Given the description of an element on the screen output the (x, y) to click on. 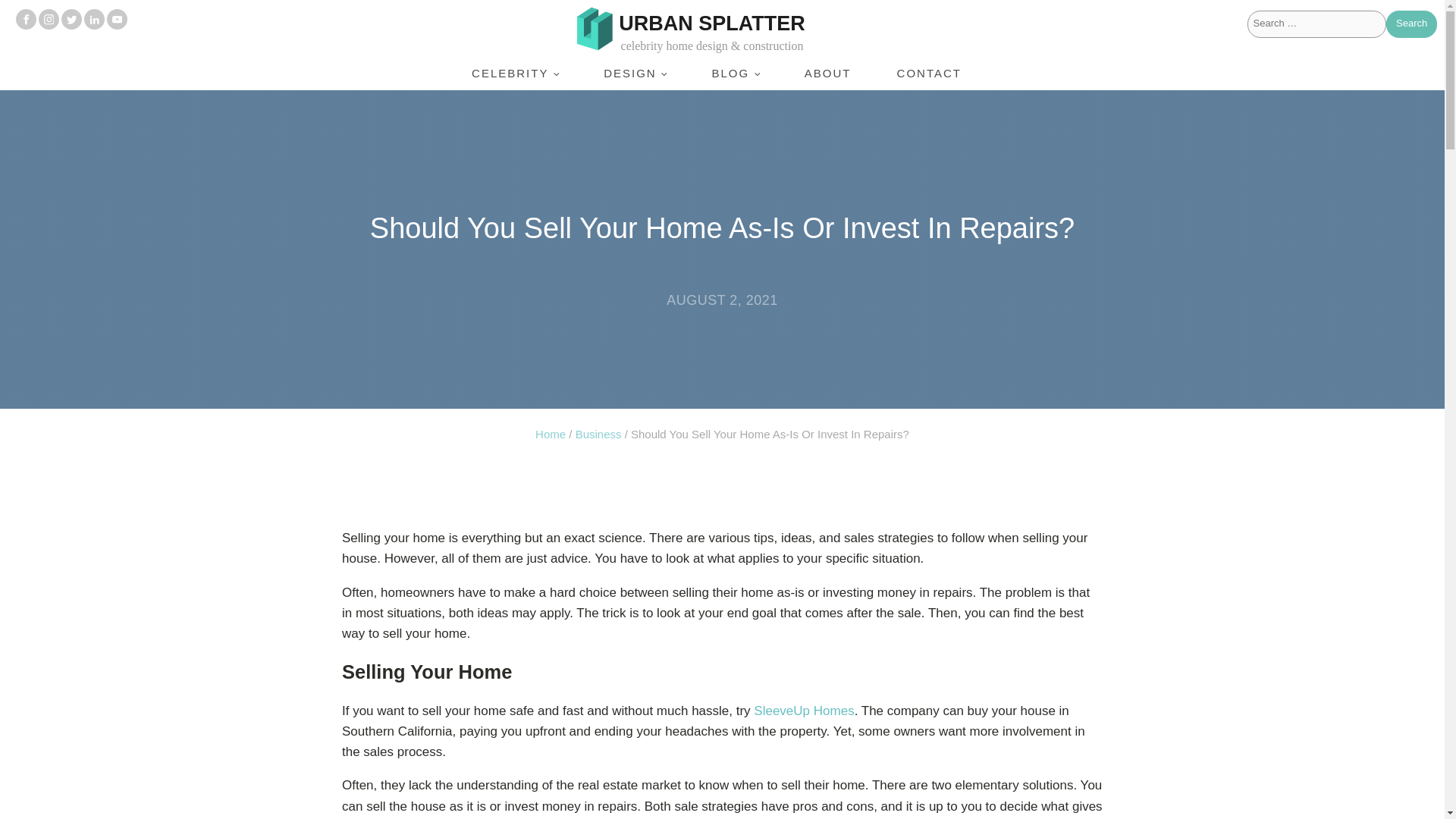
DESIGN (634, 73)
Search (1411, 23)
CELEBRITY (514, 73)
BLOG (734, 73)
Search (1411, 23)
Search (1411, 23)
